Given the description of an element on the screen output the (x, y) to click on. 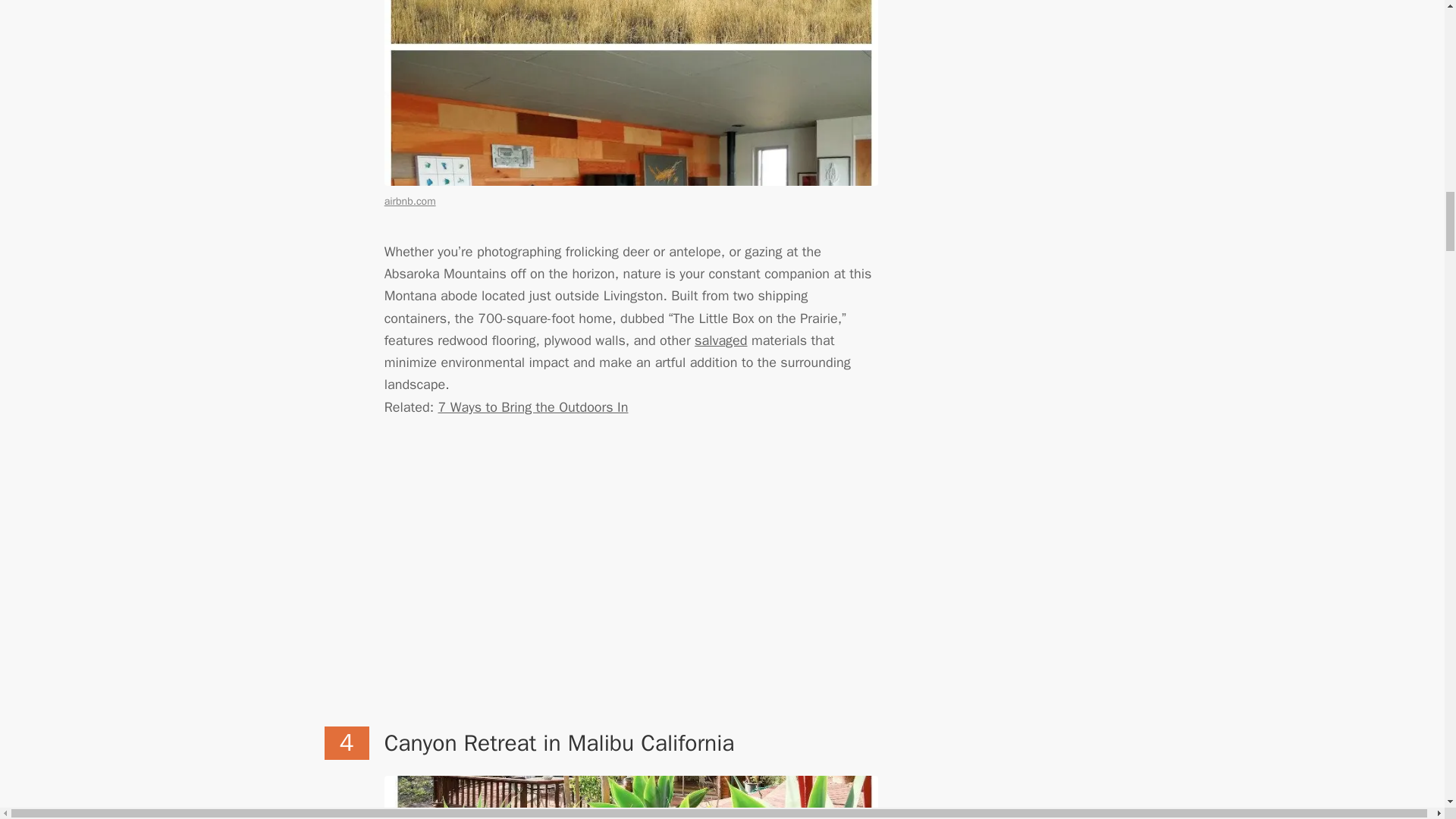
15 Ways to Use Salvaged Wood in Your Home (720, 340)
3rd party ad content (600, 596)
